Given the description of an element on the screen output the (x, y) to click on. 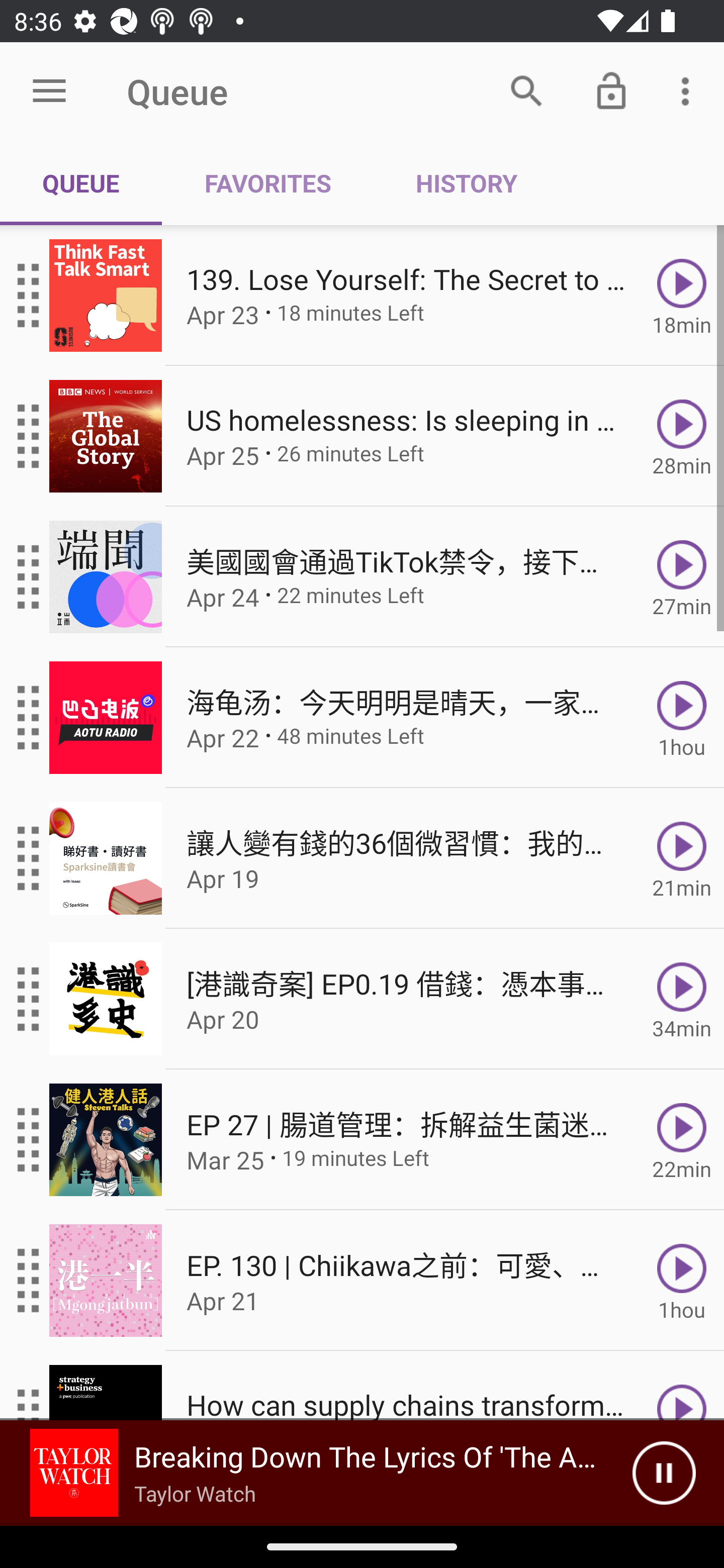
Open menu (49, 91)
Search (526, 90)
Lock Queue (611, 90)
More options (688, 90)
QUEUE (81, 183)
FAVORITES (267, 183)
HISTORY (465, 183)
Play 18min (681, 295)
Play 28min (681, 435)
Play 27min (681, 576)
Play 1hou (681, 717)
Play 21min (681, 858)
Play 34min (681, 998)
Play 22min (681, 1139)
Play 1hou (681, 1280)
Play (681, 1385)
Pause (663, 1472)
